Given the description of an element on the screen output the (x, y) to click on. 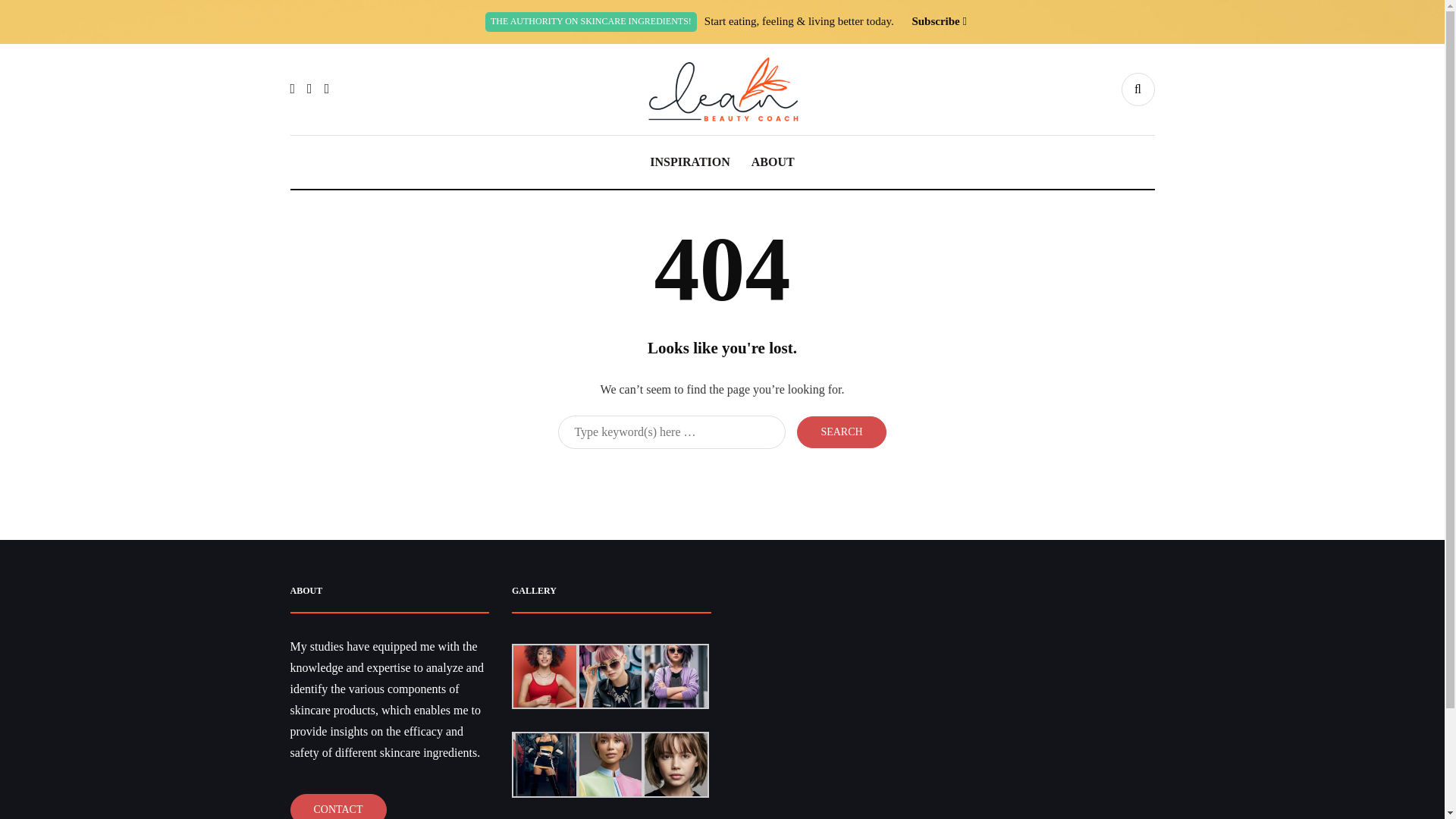
ABOUT (773, 162)
CONTACT (337, 806)
Subscribe (935, 21)
Search (840, 431)
INSPIRATION (690, 162)
Search (840, 431)
